Given the description of an element on the screen output the (x, y) to click on. 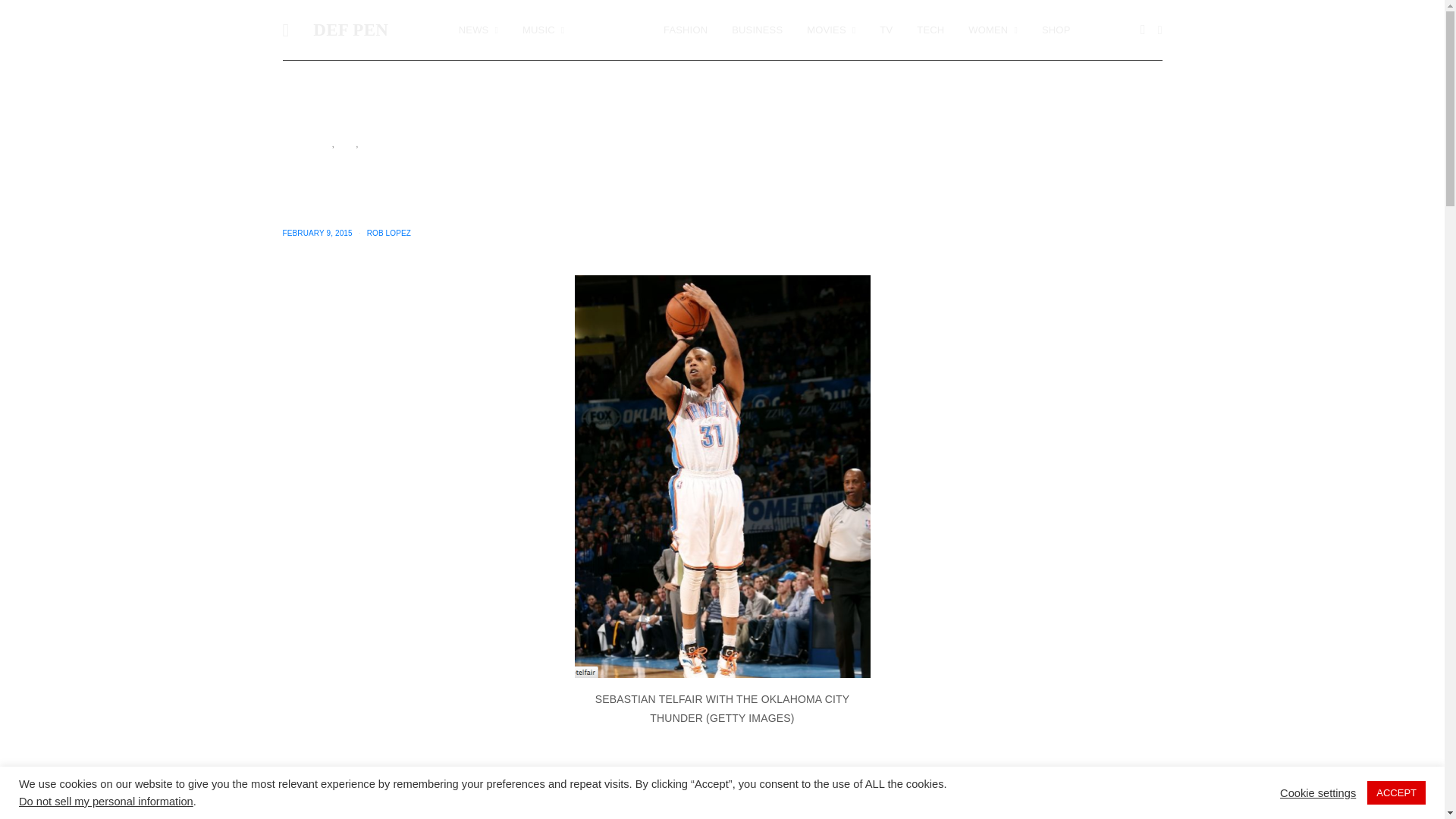
Russell Westbrook Fractures Right Hand (755, 782)
View all posts by Rob Lopez (388, 233)
